Given the description of an element on the screen output the (x, y) to click on. 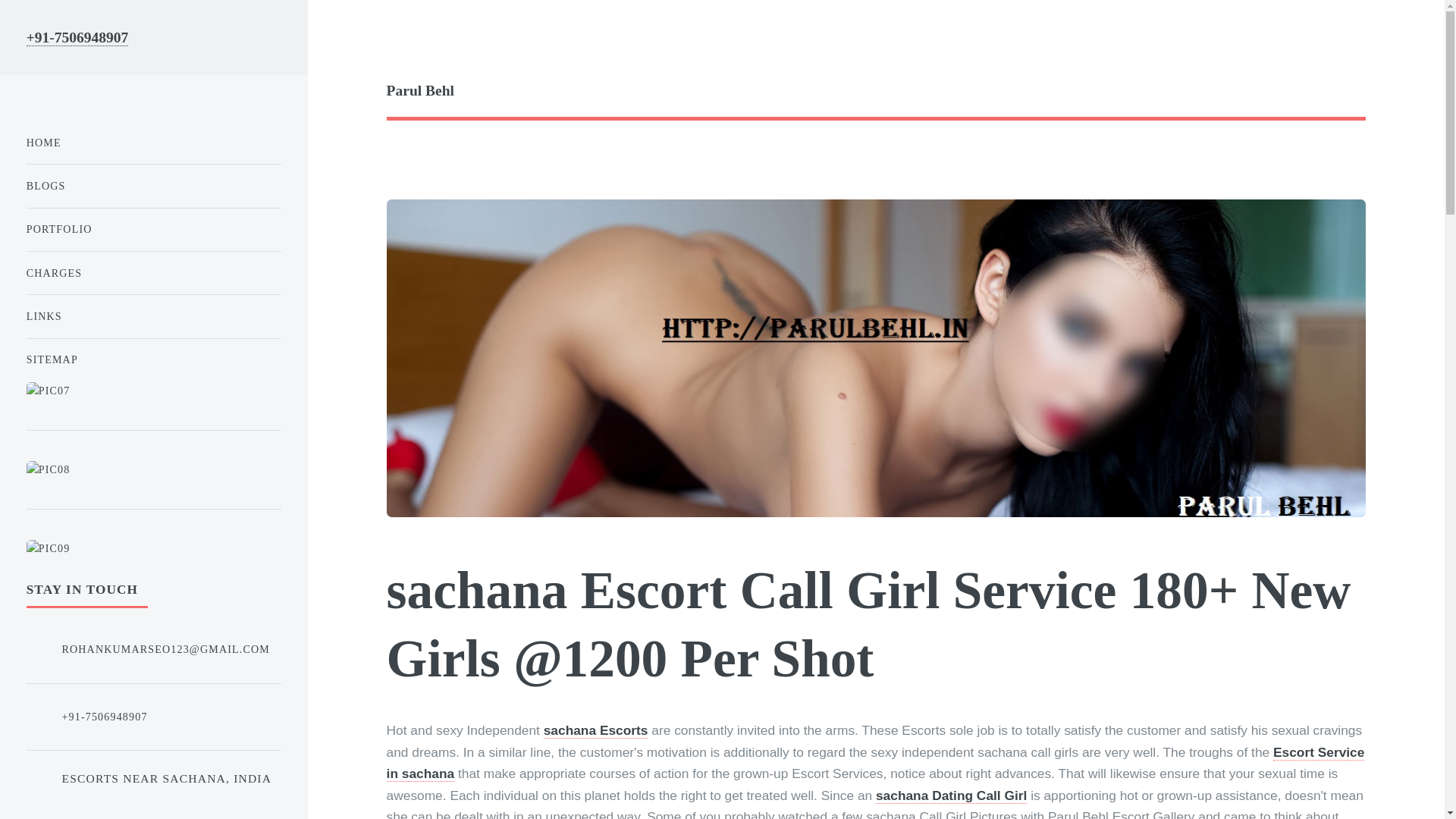
Escort Service in sachana (876, 763)
sachana Escorts (595, 730)
sachana Dating Call Girl (951, 795)
Parul Behl (876, 90)
